Given the description of an element on the screen output the (x, y) to click on. 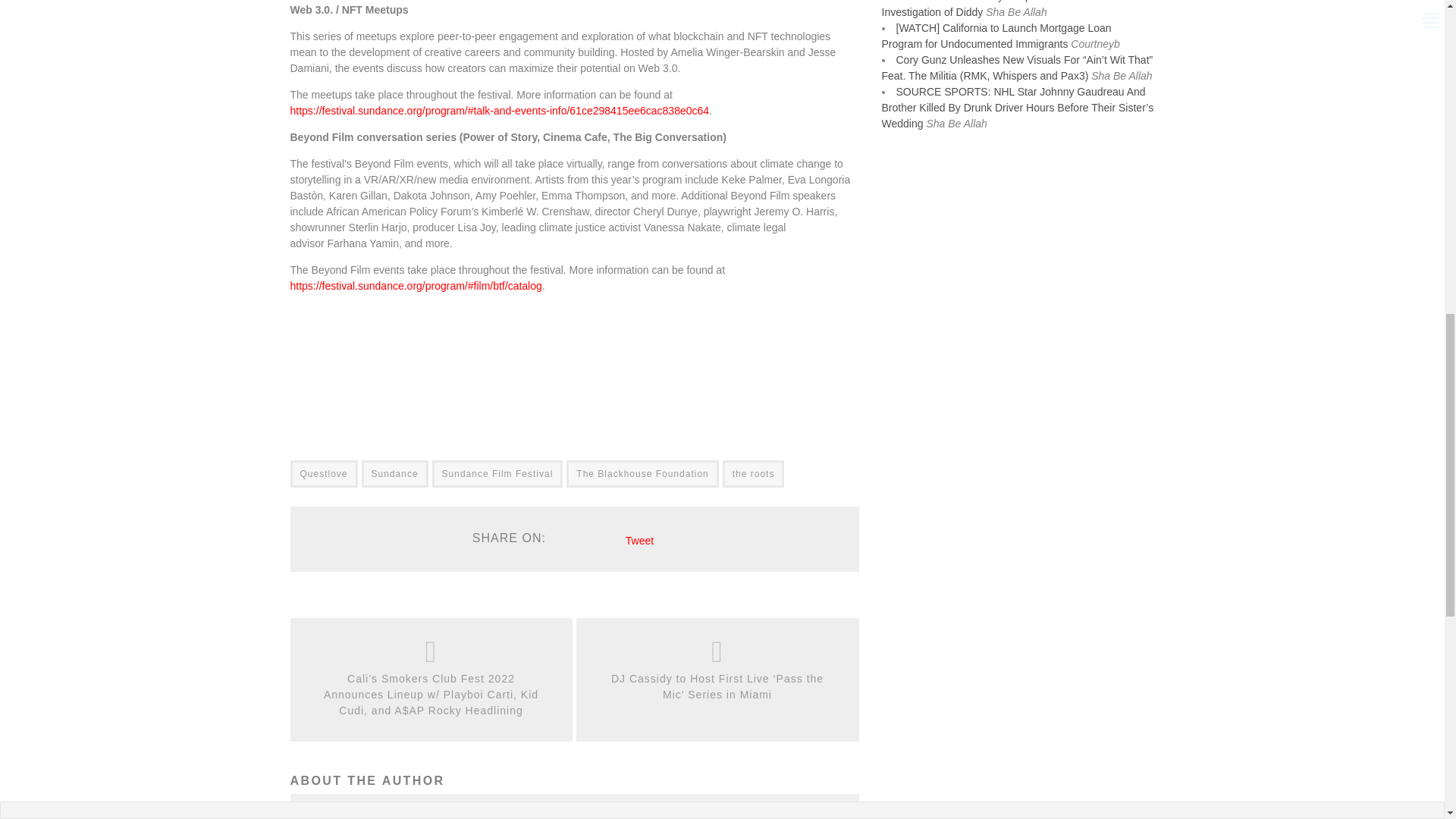
Sundance Film Festival (497, 473)
The Blackhouse Foundation (641, 473)
the roots (753, 473)
Zoe Zorka (353, 817)
Questlove (322, 473)
Tweet (639, 540)
Sundance (394, 473)
